Given the description of an element on the screen output the (x, y) to click on. 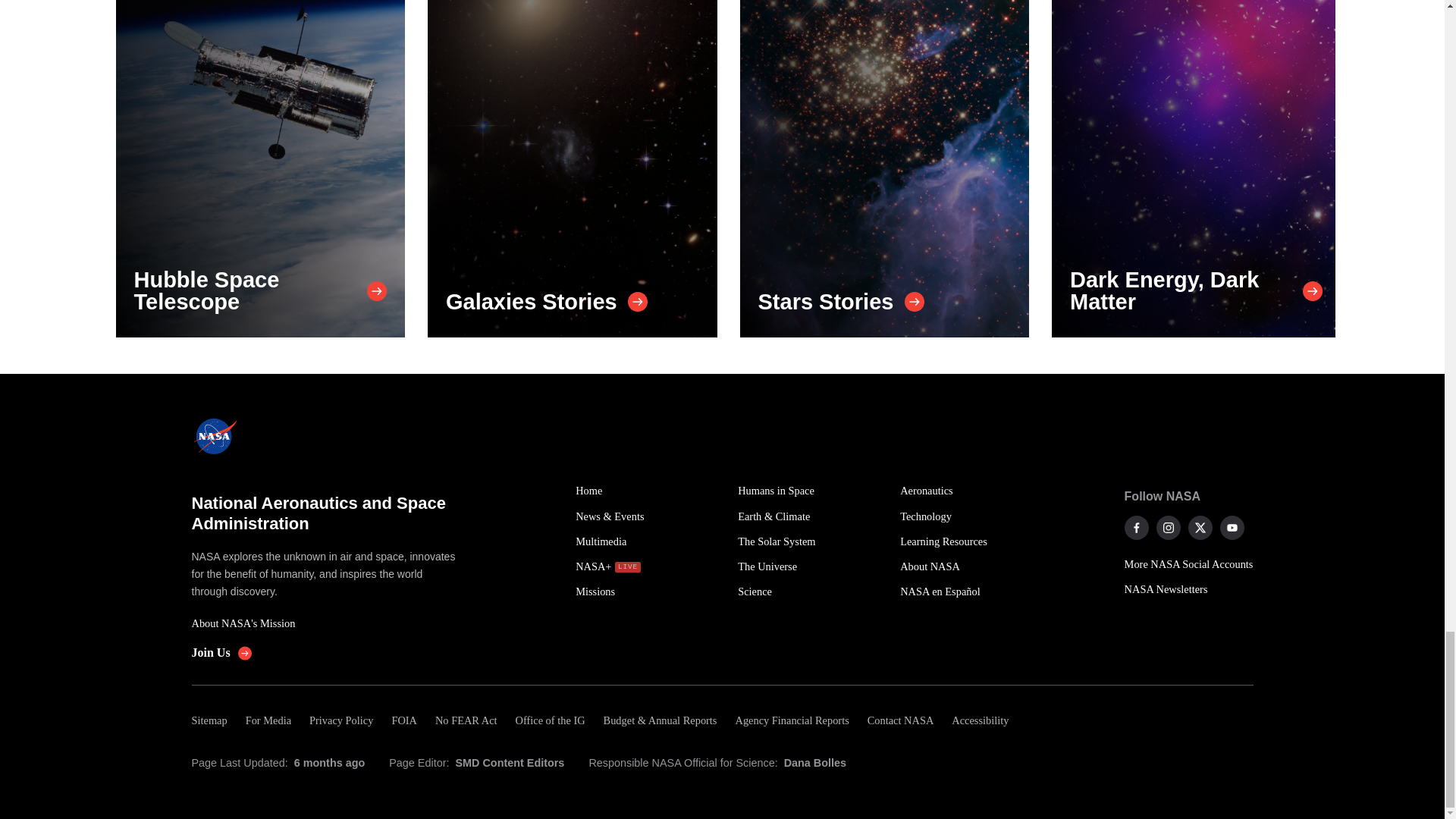
Privacy Policy (340, 720)
FOIA (403, 720)
For Media (267, 720)
Contact NASA (901, 720)
No FEAR Act (466, 720)
Accessibility (979, 720)
Sitemap (212, 720)
Office of the IG (550, 720)
Agency Financial Reports (791, 720)
